Given the description of an element on the screen output the (x, y) to click on. 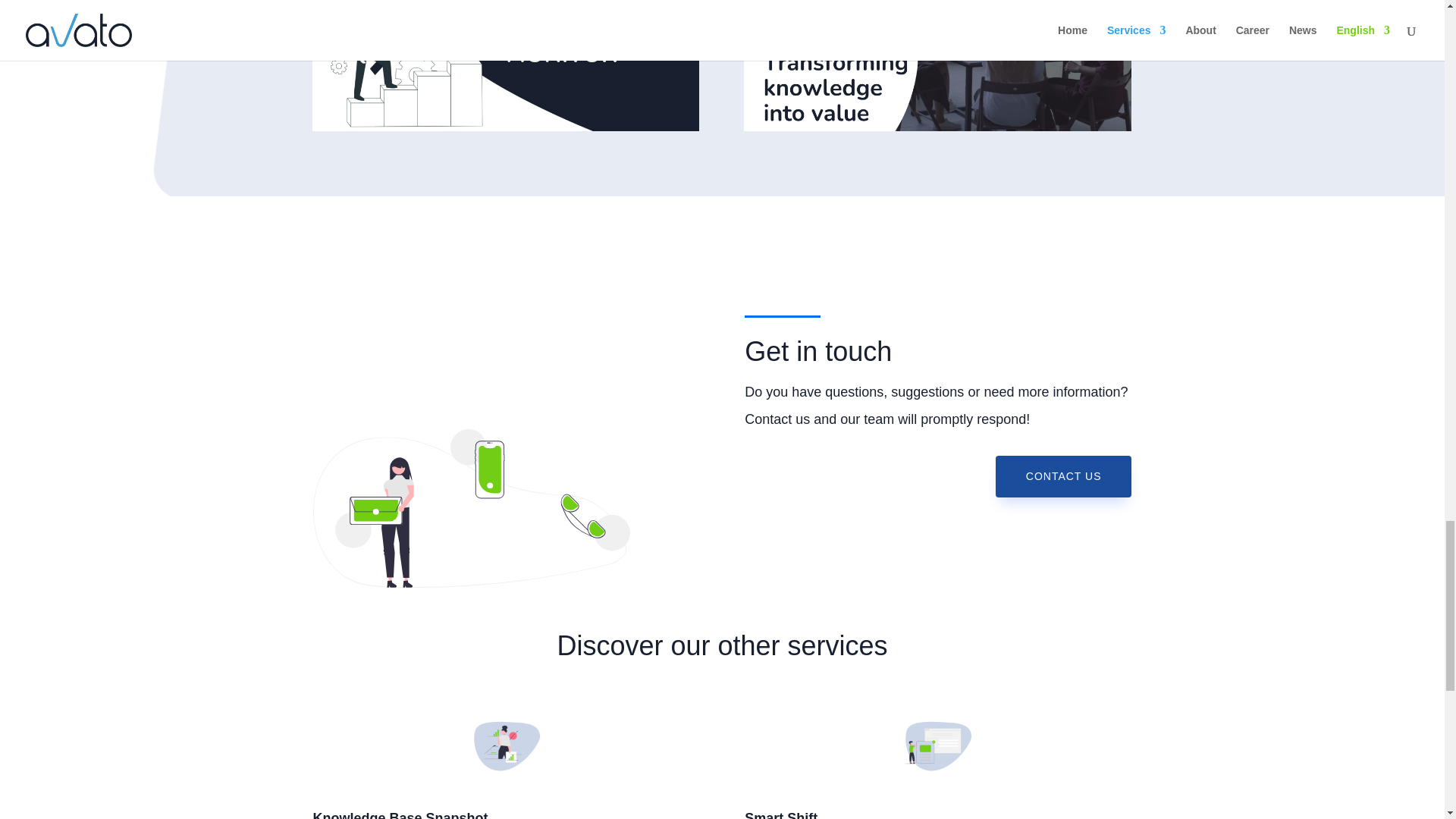
Contact us (470, 508)
CONTACT US (1063, 476)
Smart Shift (780, 814)
Knowledge Base Snapshot (400, 814)
